Given the description of an element on the screen output the (x, y) to click on. 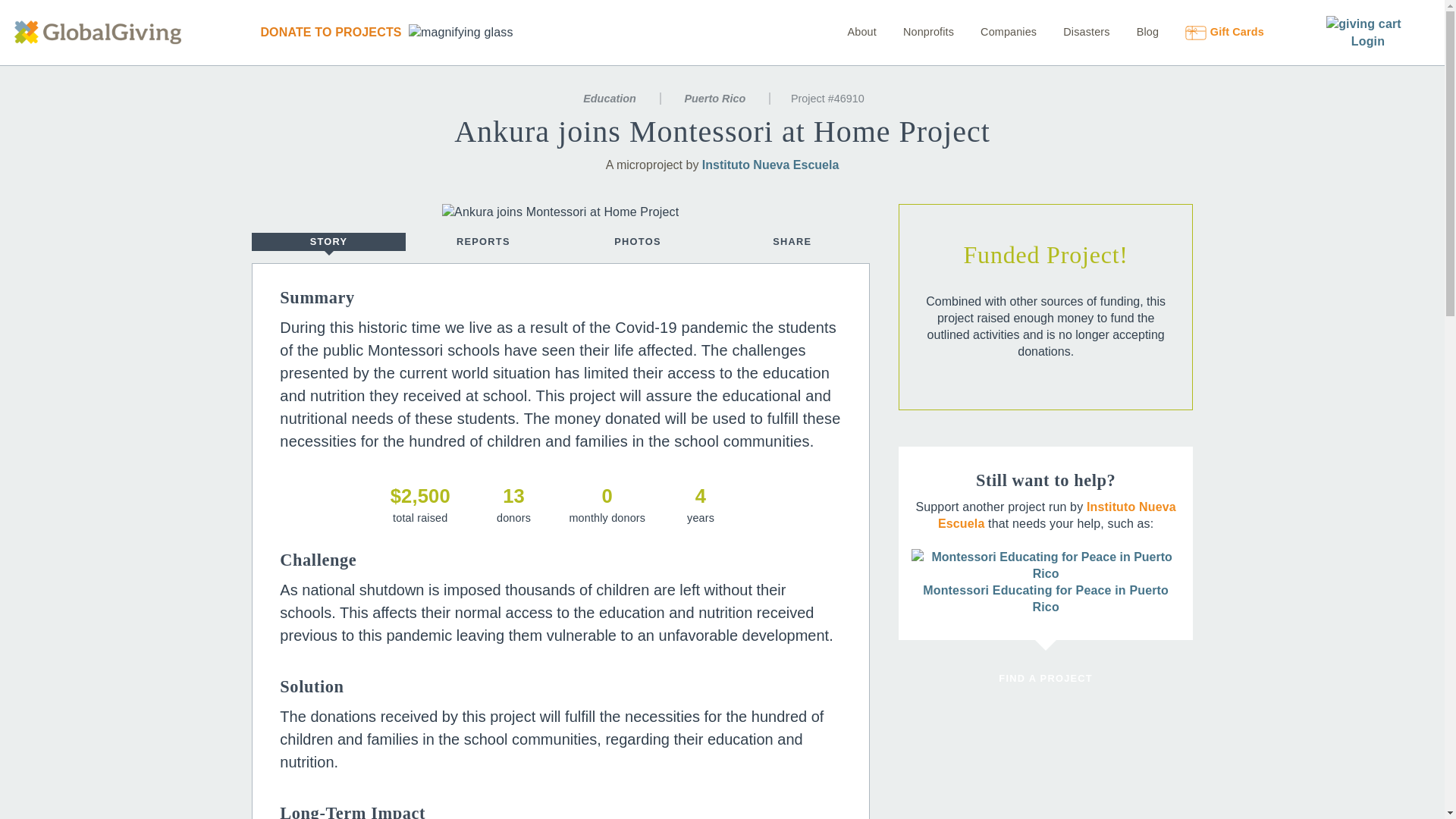
Login (1367, 41)
Disasters (1074, 31)
DONATE TO PROJECTS (330, 31)
Gift Cards (1212, 31)
Blog (1135, 31)
Nonprofits (916, 31)
About (861, 31)
Companies (996, 31)
